Given the description of an element on the screen output the (x, y) to click on. 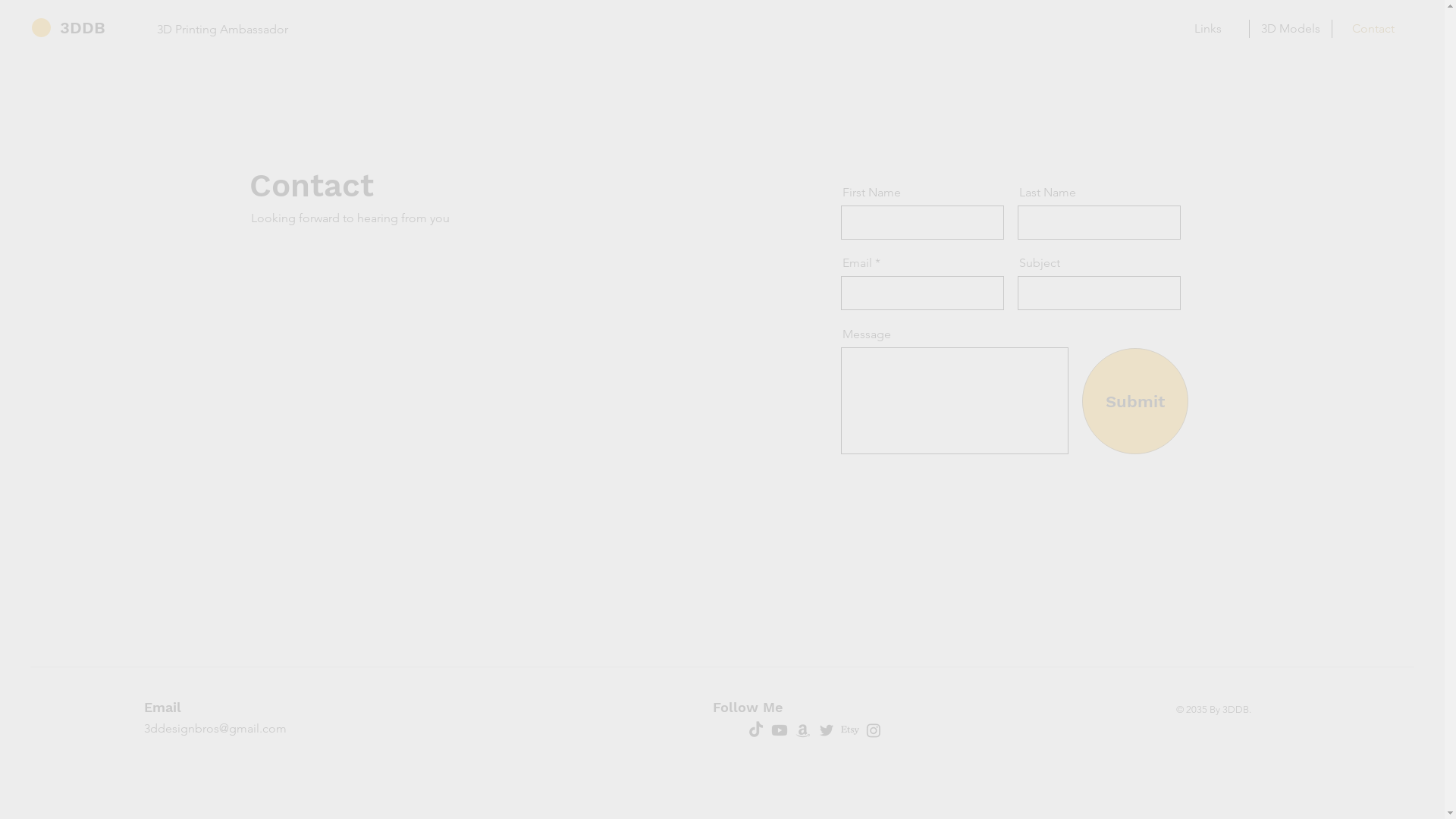
3D Models Element type: text (1290, 28)
3ddesignbros@gmail.com Element type: text (215, 728)
Links Element type: text (1207, 28)
Submit Element type: text (1135, 401)
3DDB Element type: text (82, 27)
Contact Element type: text (1373, 28)
